Given the description of an element on the screen output the (x, y) to click on. 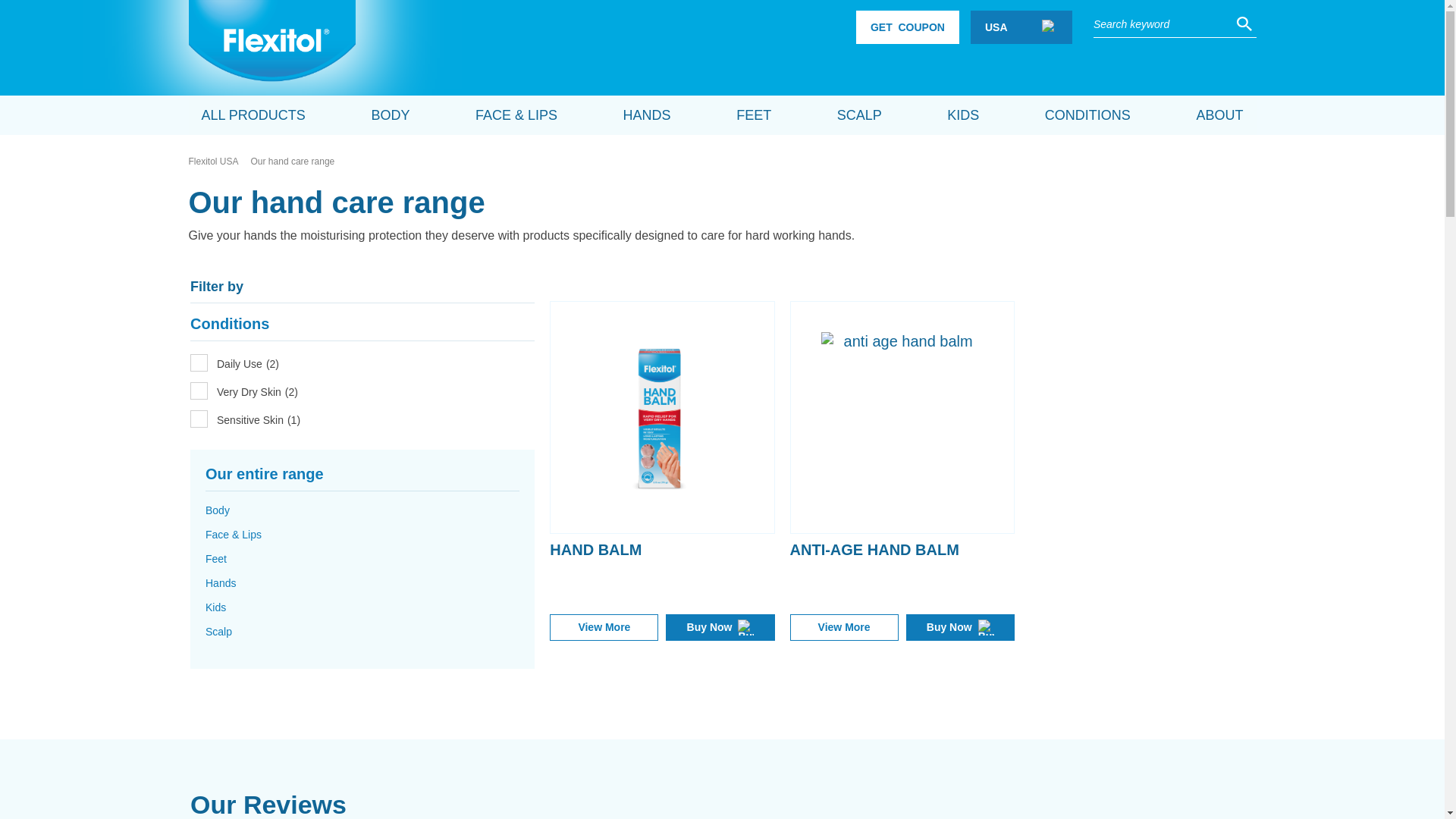
Flexitol USA (214, 160)
HANDS (647, 115)
USA (1021, 27)
ALL PRODUCTS (253, 115)
Go to Flexitol USA. (214, 160)
CONDITIONS (1088, 115)
Home page - Flexitol USA (271, 43)
Search (1243, 23)
SCALP (859, 115)
Body (217, 510)
FEET (753, 115)
KIDS (962, 115)
BODY (907, 27)
ABOUT (390, 115)
